Given the description of an element on the screen output the (x, y) to click on. 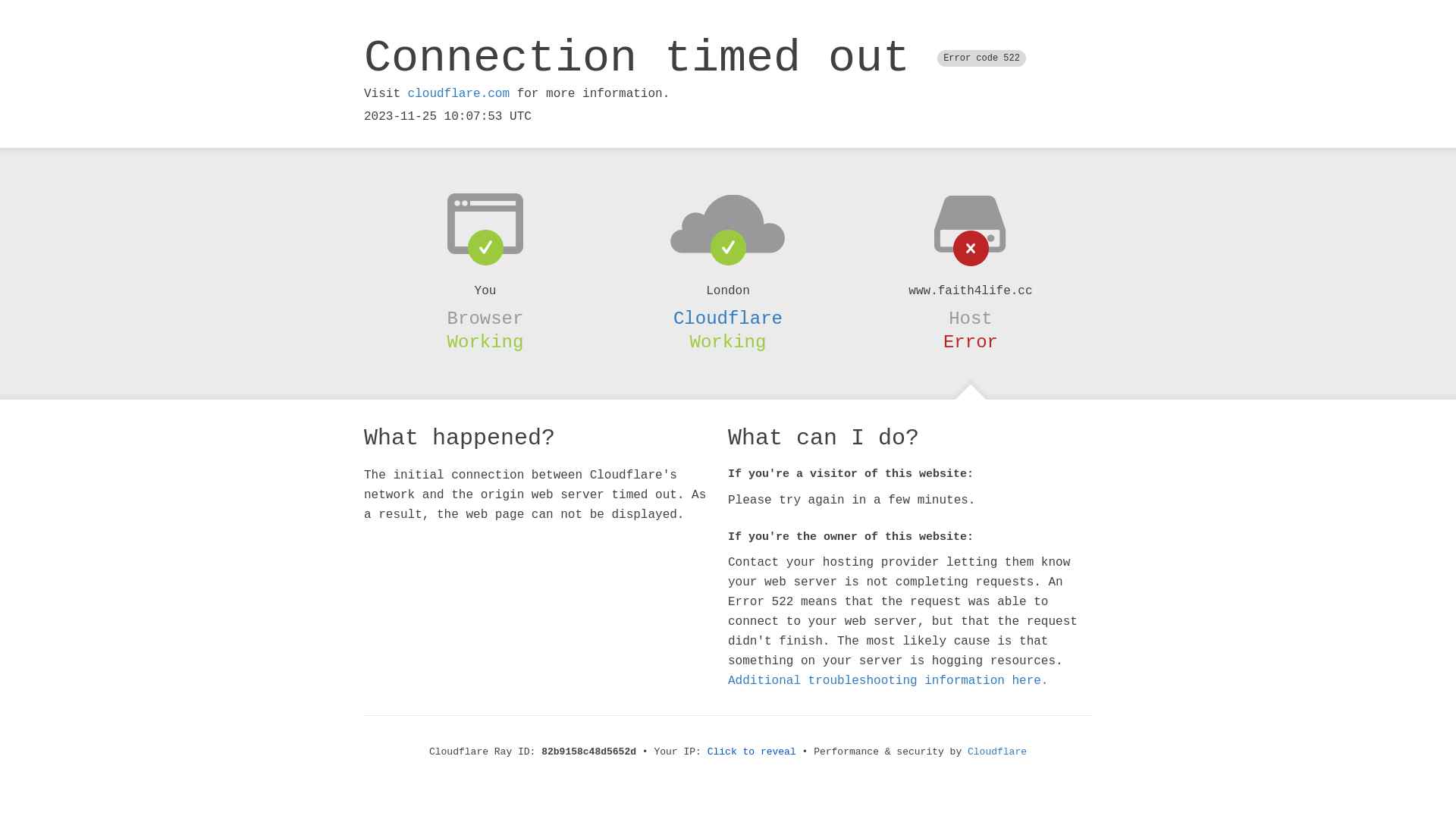
Cloudflare Element type: text (727, 318)
Cloudflare Element type: text (996, 751)
Additional troubleshooting information here. Element type: text (888, 680)
cloudflare.com Element type: text (458, 93)
Click to reveal Element type: text (751, 751)
